Given the description of an element on the screen output the (x, y) to click on. 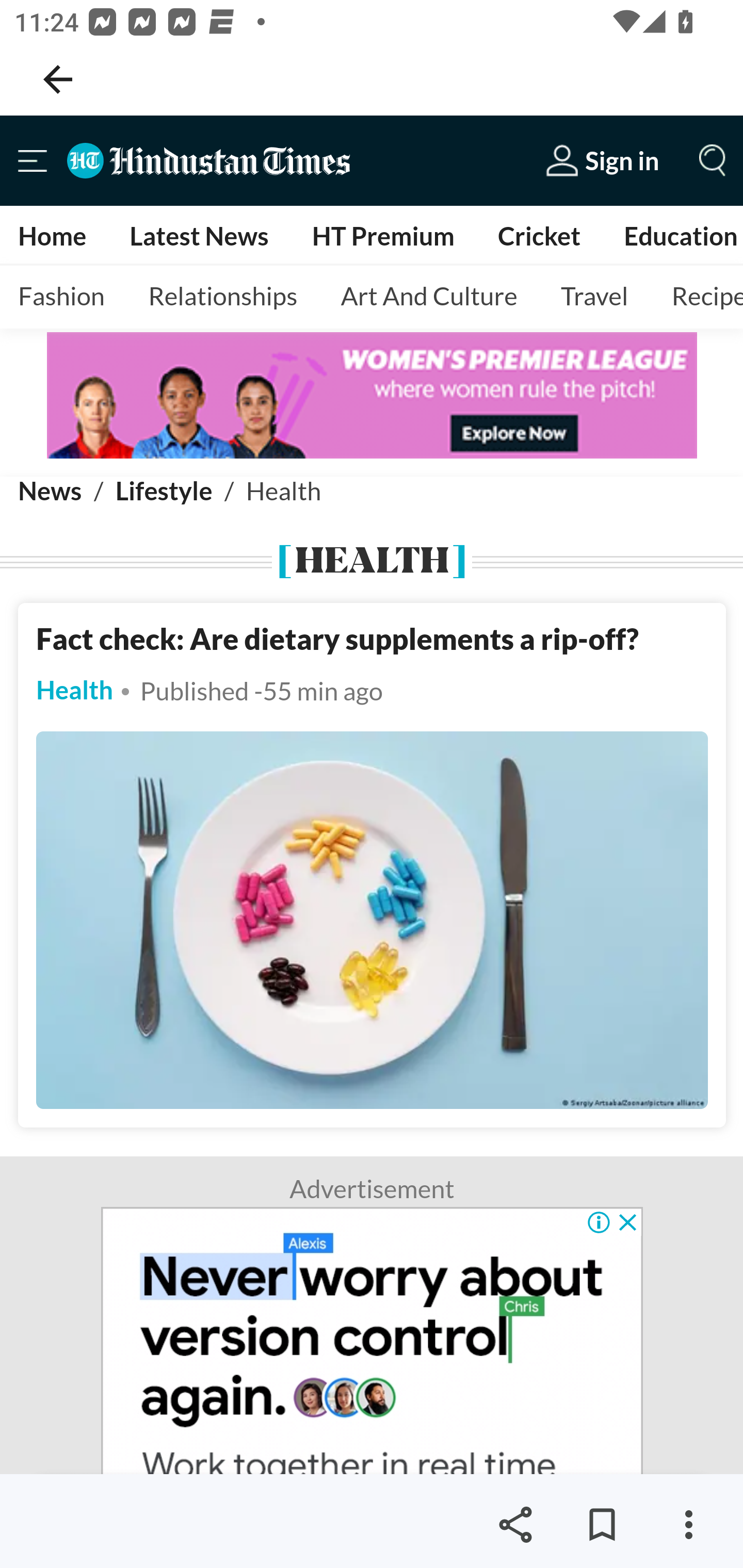
Navigate up (57, 79)
Menu (33, 160)
Search Search Search   Search (711, 158)
Hindustan Times News (208, 160)
Sign in (602, 160)
Home (52, 235)
Latest News (197, 235)
HT Premium (382, 235)
Cricket (538, 235)
Education (680, 235)
Fashion (61, 297)
Relationships (222, 297)
Art And Culture (428, 297)
Travel (594, 297)
wpl (281, 395)
News (50, 490)
Lifestyle (163, 490)
Fact check: Are dietary supplements a rip-off? (337, 638)
Health (74, 690)
Advertisement (372, 1340)
Share (514, 1524)
Save for later (601, 1524)
More options (688, 1524)
